Given the description of an element on the screen output the (x, y) to click on. 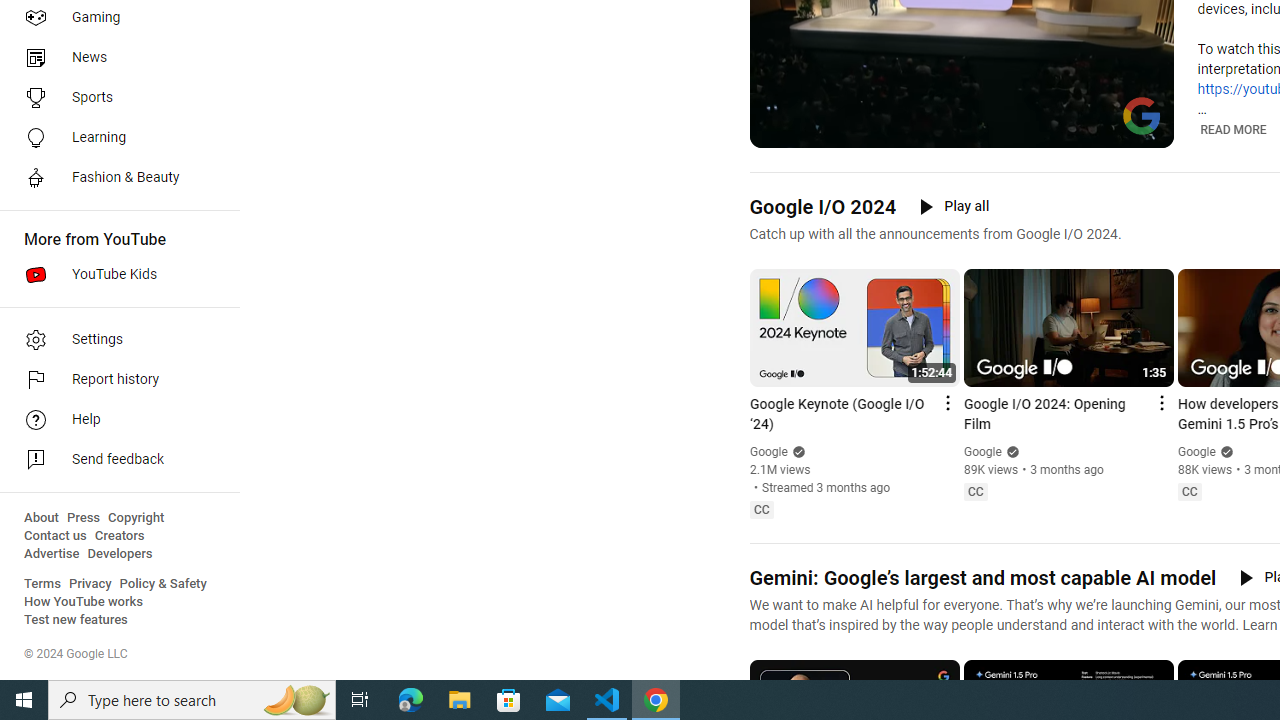
News (113, 57)
READ MORE (1233, 129)
Subtitles/closed captions unavailable (1071, 130)
Google I/O 2024 (822, 206)
Pause (k) (779, 130)
Copyright (136, 518)
Press (83, 518)
Settings (1107, 130)
Action menu (1160, 403)
